Given the description of an element on the screen output the (x, y) to click on. 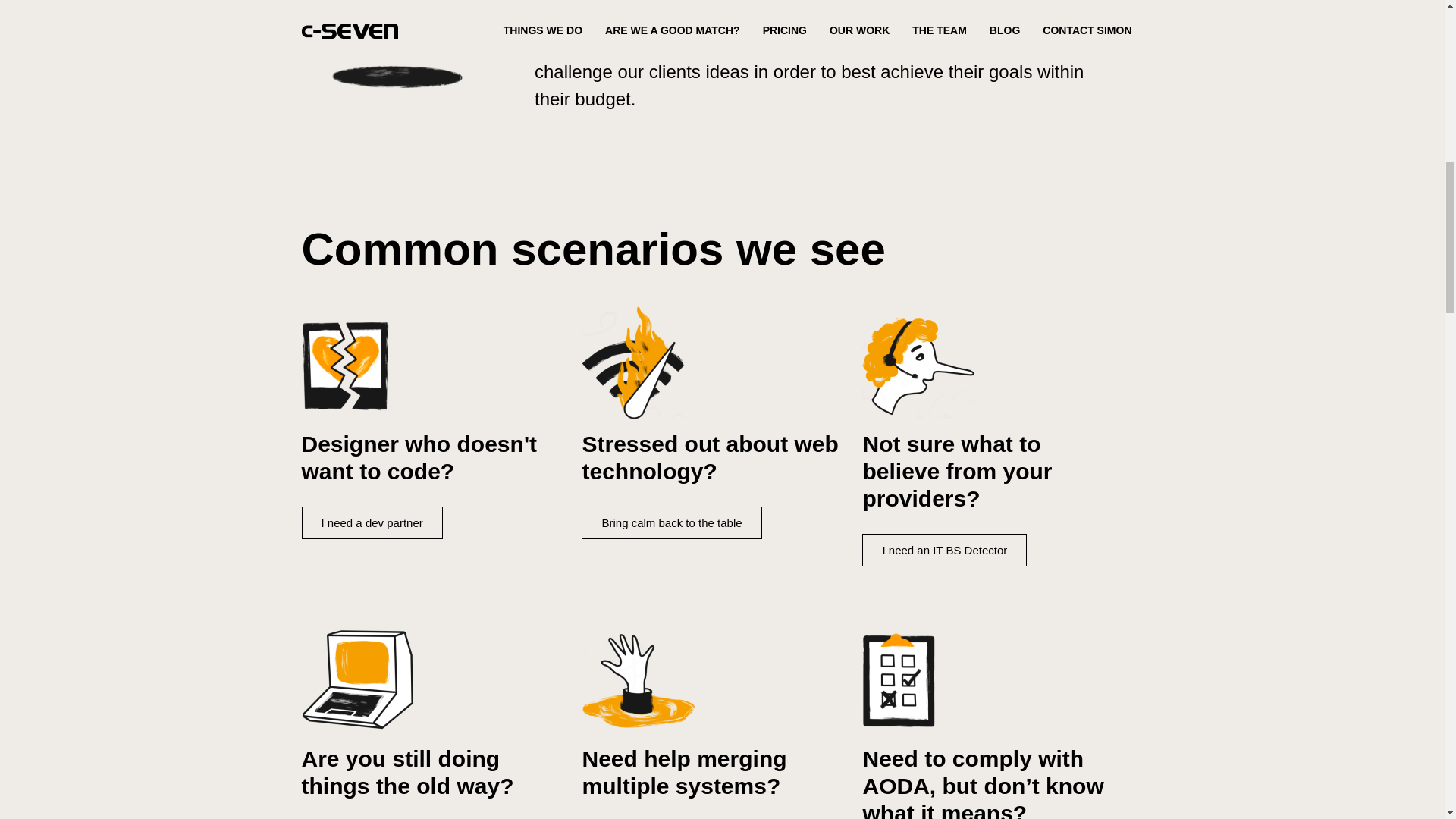
I need a dev partner (371, 522)
I need an IT BS Detector (943, 549)
Bring calm back to the table (670, 522)
